Given the description of an element on the screen output the (x, y) to click on. 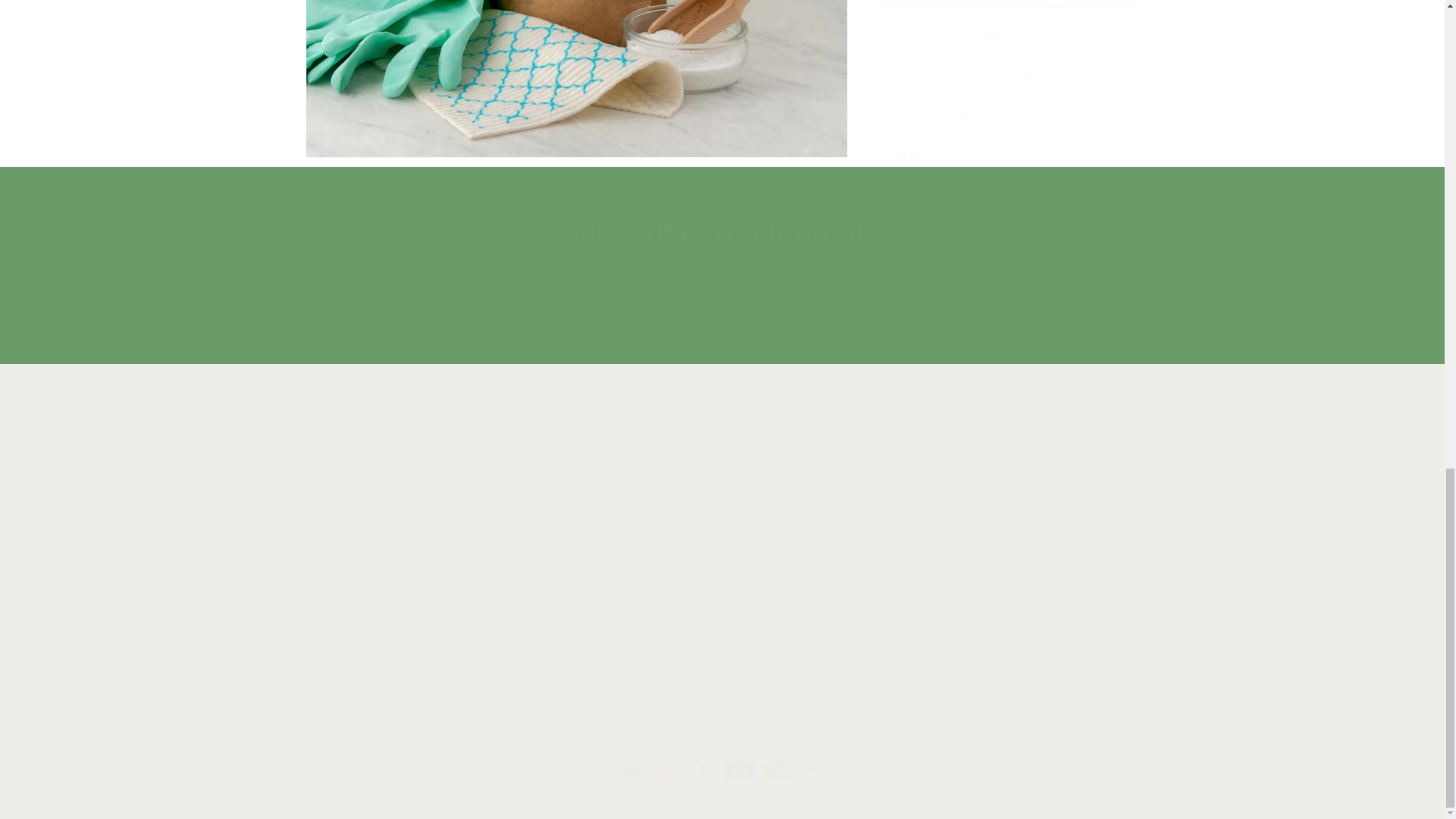
Subscribe to our emails (1003, 538)
Email (721, 231)
